Given the description of an element on the screen output the (x, y) to click on. 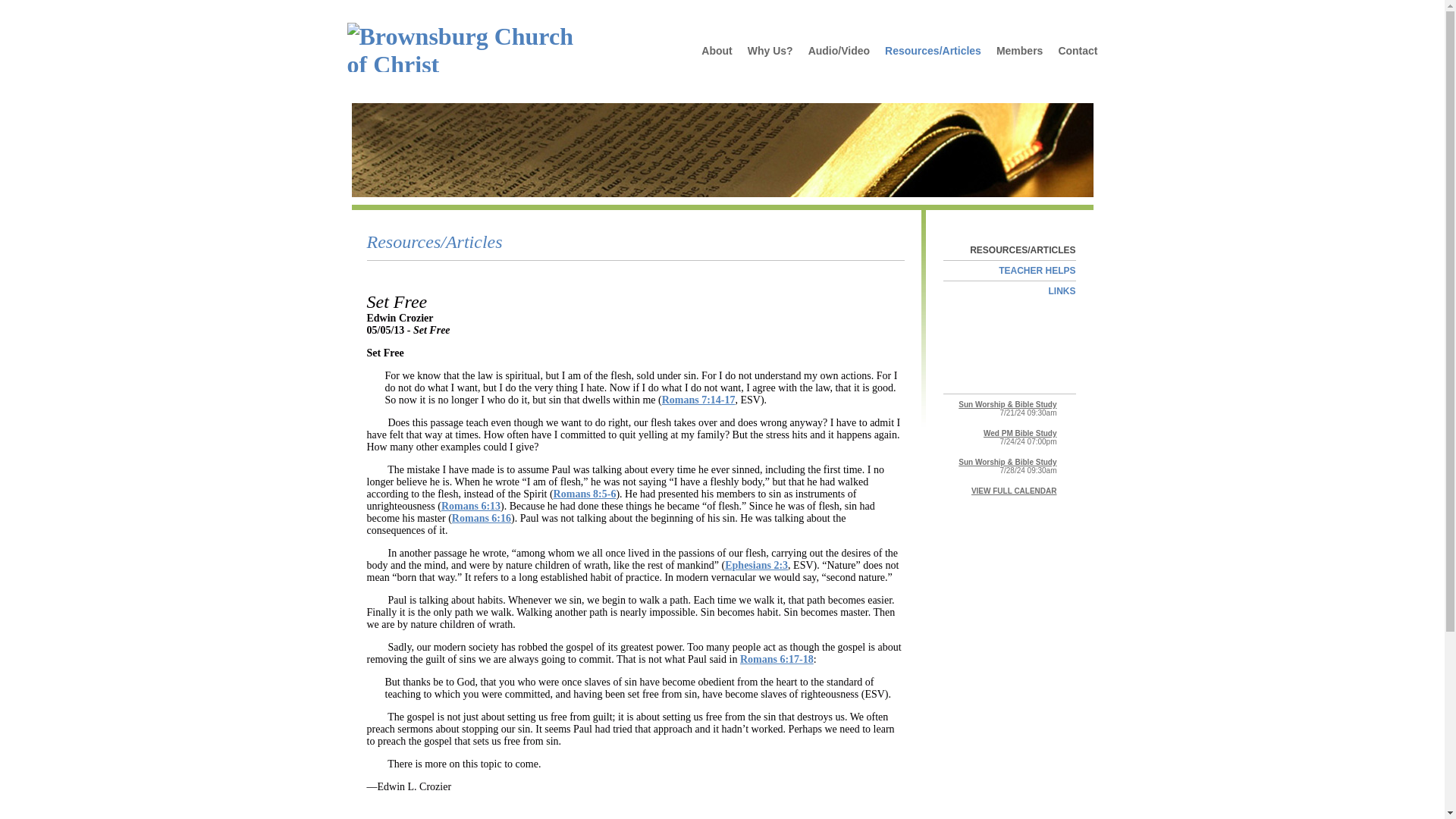
About (716, 50)
Members (1018, 50)
Contact (1073, 50)
Why Us? (769, 50)
